Given the description of an element on the screen output the (x, y) to click on. 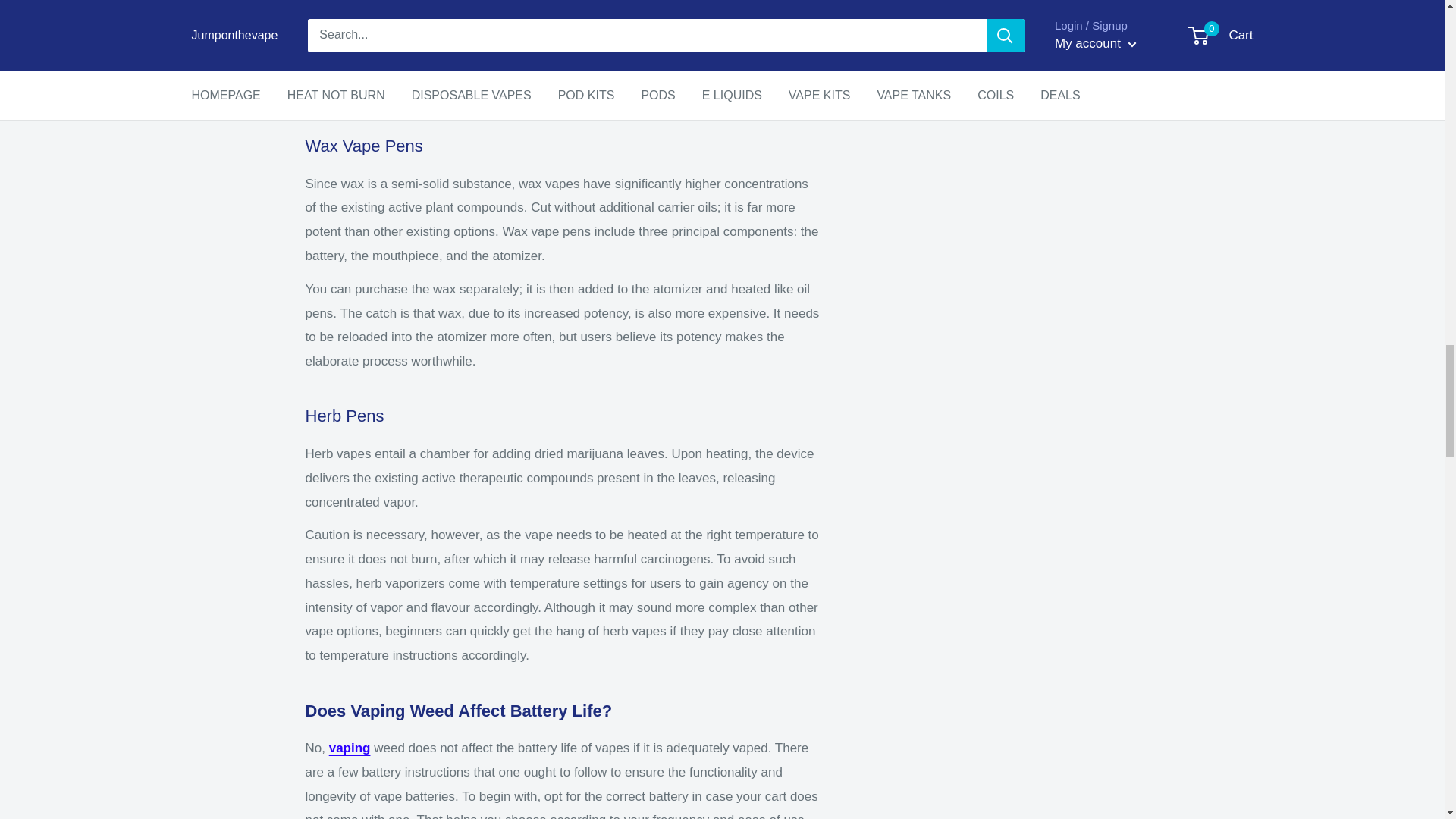
Vaping (350, 748)
